Given the description of an element on the screen output the (x, y) to click on. 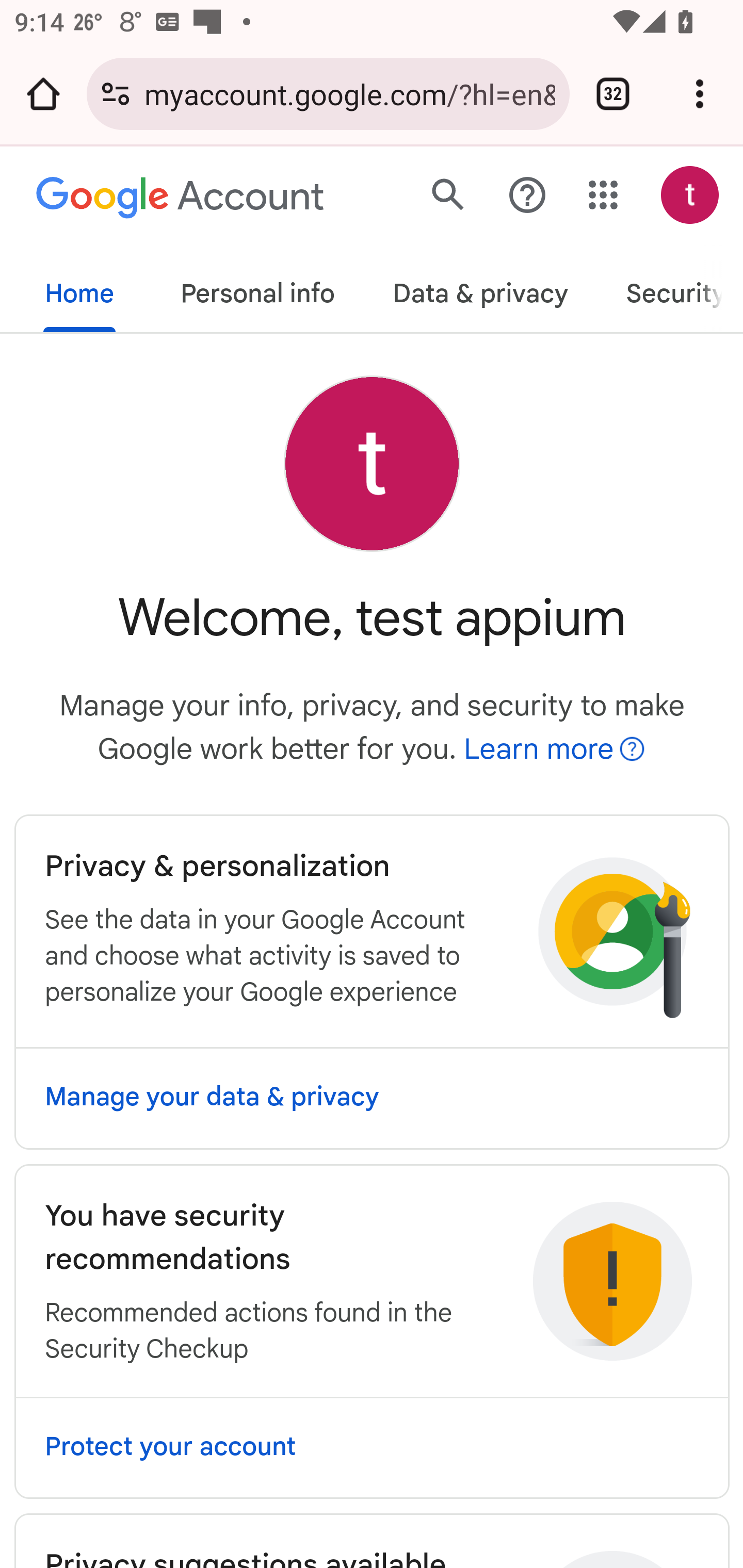
Open the home page (43, 93)
Connection is secure (115, 93)
Switch or close tabs (612, 93)
Customize and control Google Chrome (699, 93)
Help (526, 195)
Google apps (603, 195)
Google Account settings Account (181, 198)
Home (79, 289)
Personal info (257, 289)
Data & privacy (479, 289)
Security (675, 289)
Change profile photo (371, 462)
Learn more about Google Account Learn more (554, 749)
Manage your data & privacy (371, 1097)
Protect your account (371, 1448)
